Given the description of an element on the screen output the (x, y) to click on. 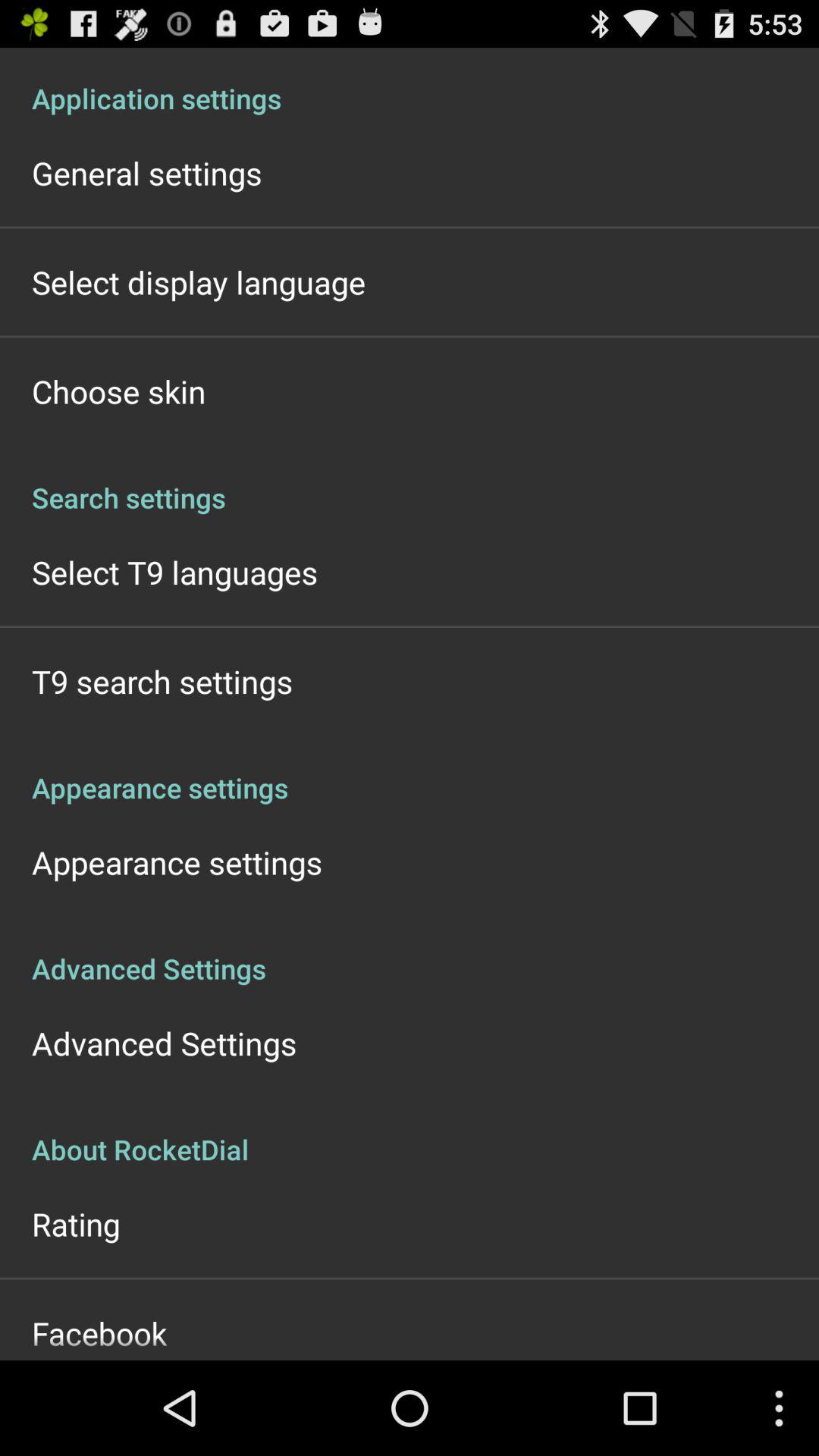
flip until general settings app (146, 172)
